Given the description of an element on the screen output the (x, y) to click on. 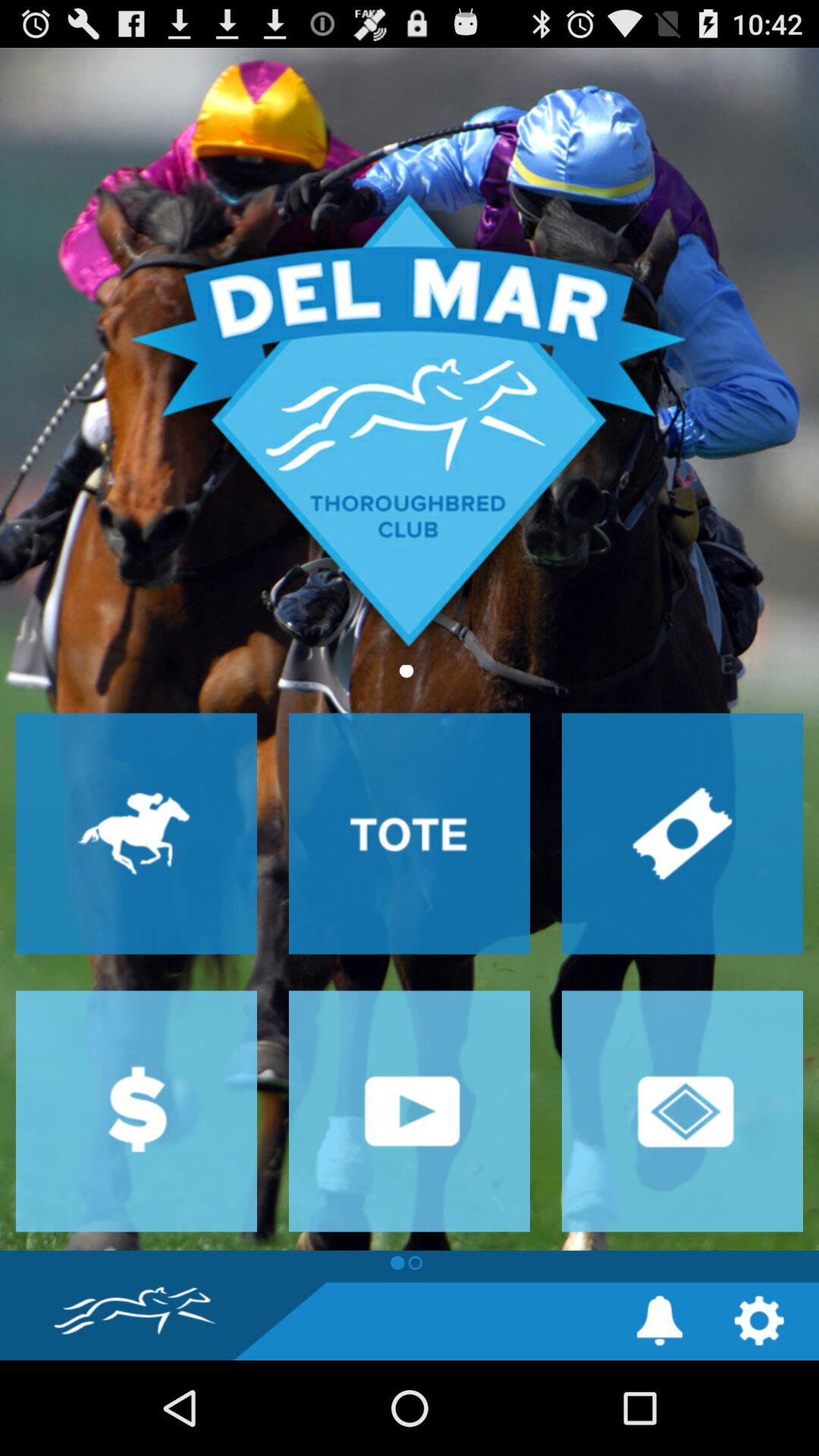
login in app (682, 1111)
